Given the description of an element on the screen output the (x, y) to click on. 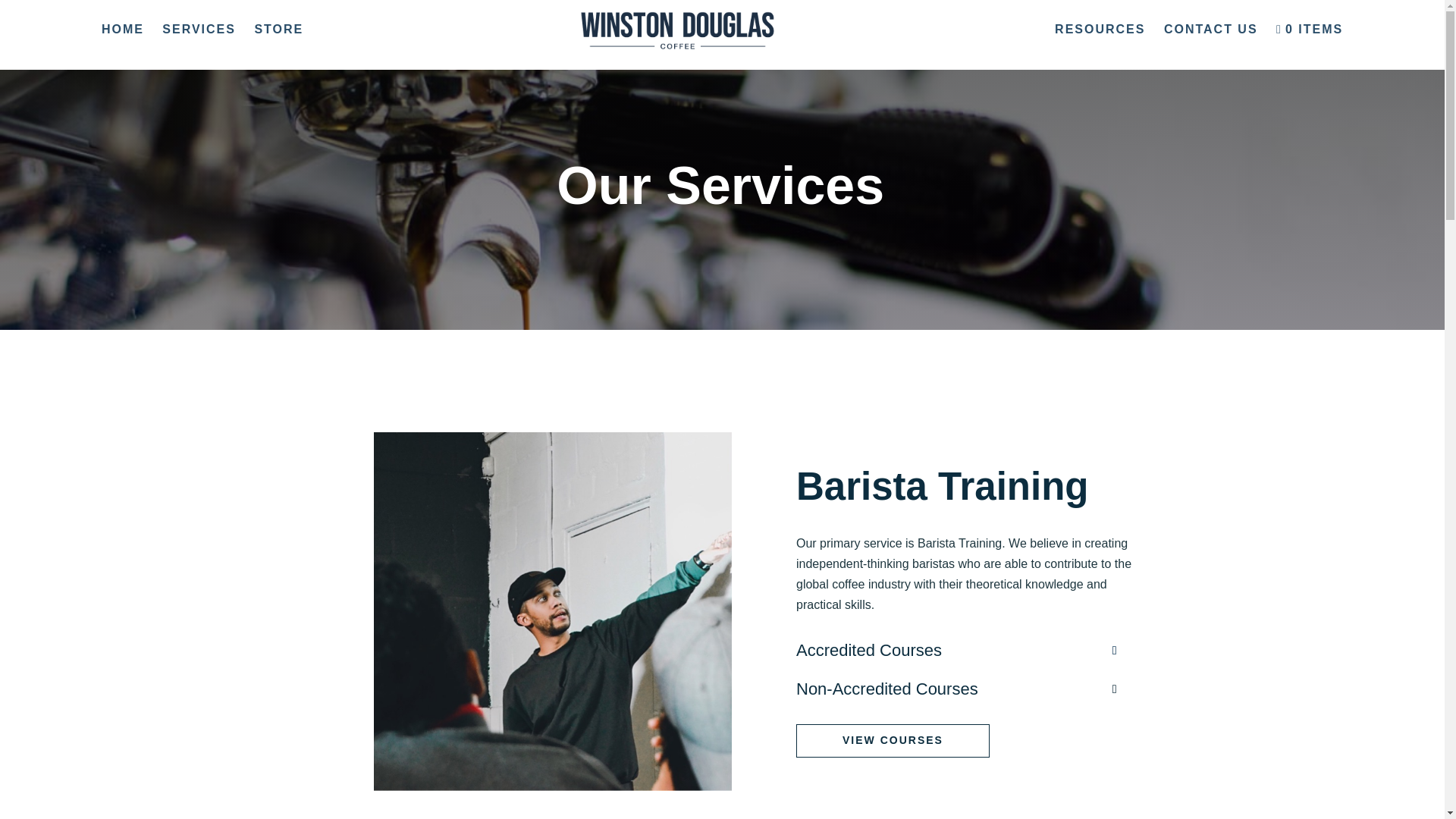
HOME (122, 46)
RESOURCES (1099, 46)
SERVICES (199, 46)
VIEW COURSES (893, 740)
STORE (278, 46)
0 ITEMS (1309, 46)
Start shopping (1309, 46)
CONTACT US (1211, 46)
